Given the description of an element on the screen output the (x, y) to click on. 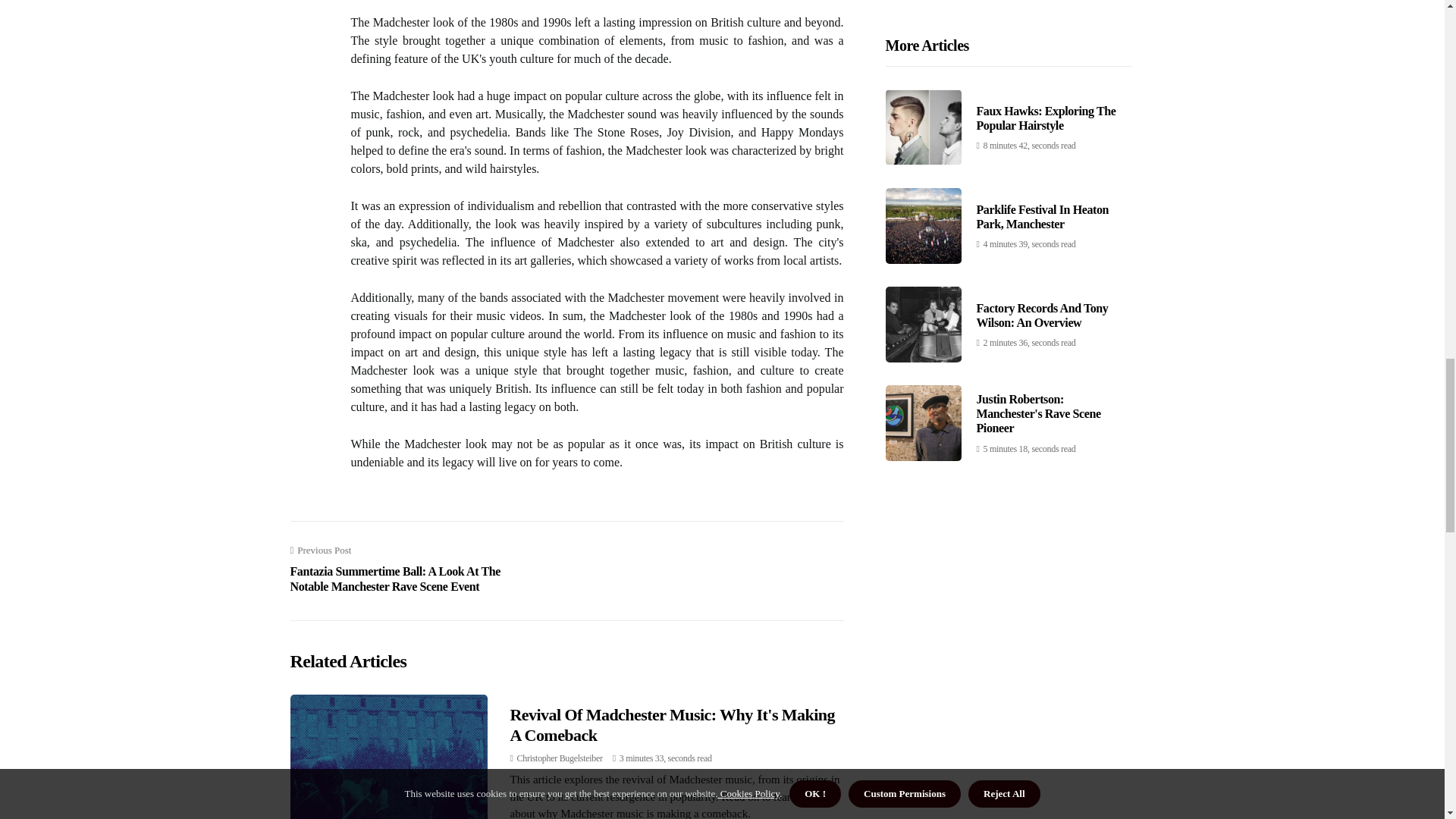
Posts by Christopher Bugelsteiber (559, 757)
